Given the description of an element on the screen output the (x, y) to click on. 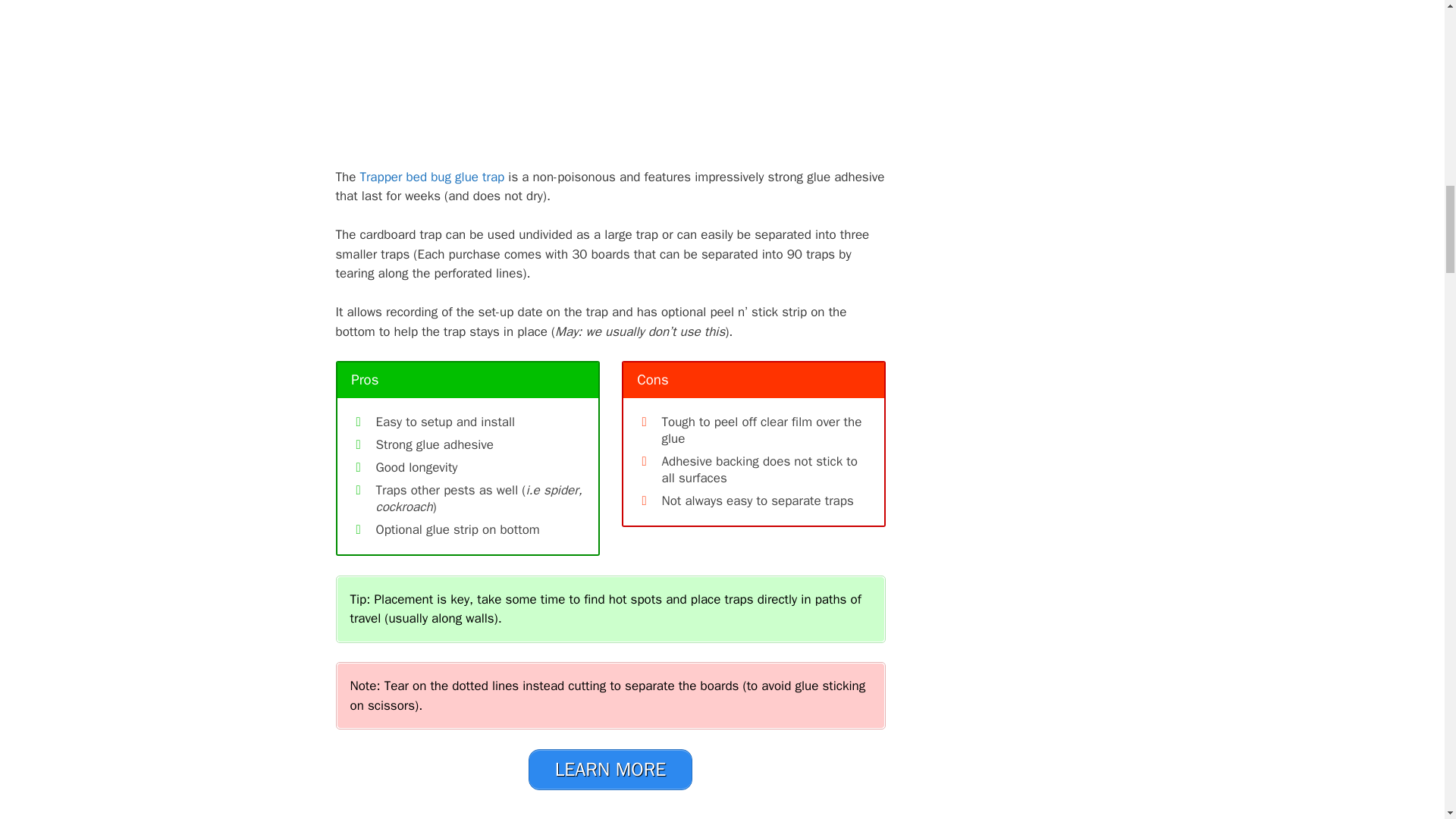
Trapper bed bug glue trap (431, 176)
LEARN MORE (610, 769)
